Given the description of an element on the screen output the (x, y) to click on. 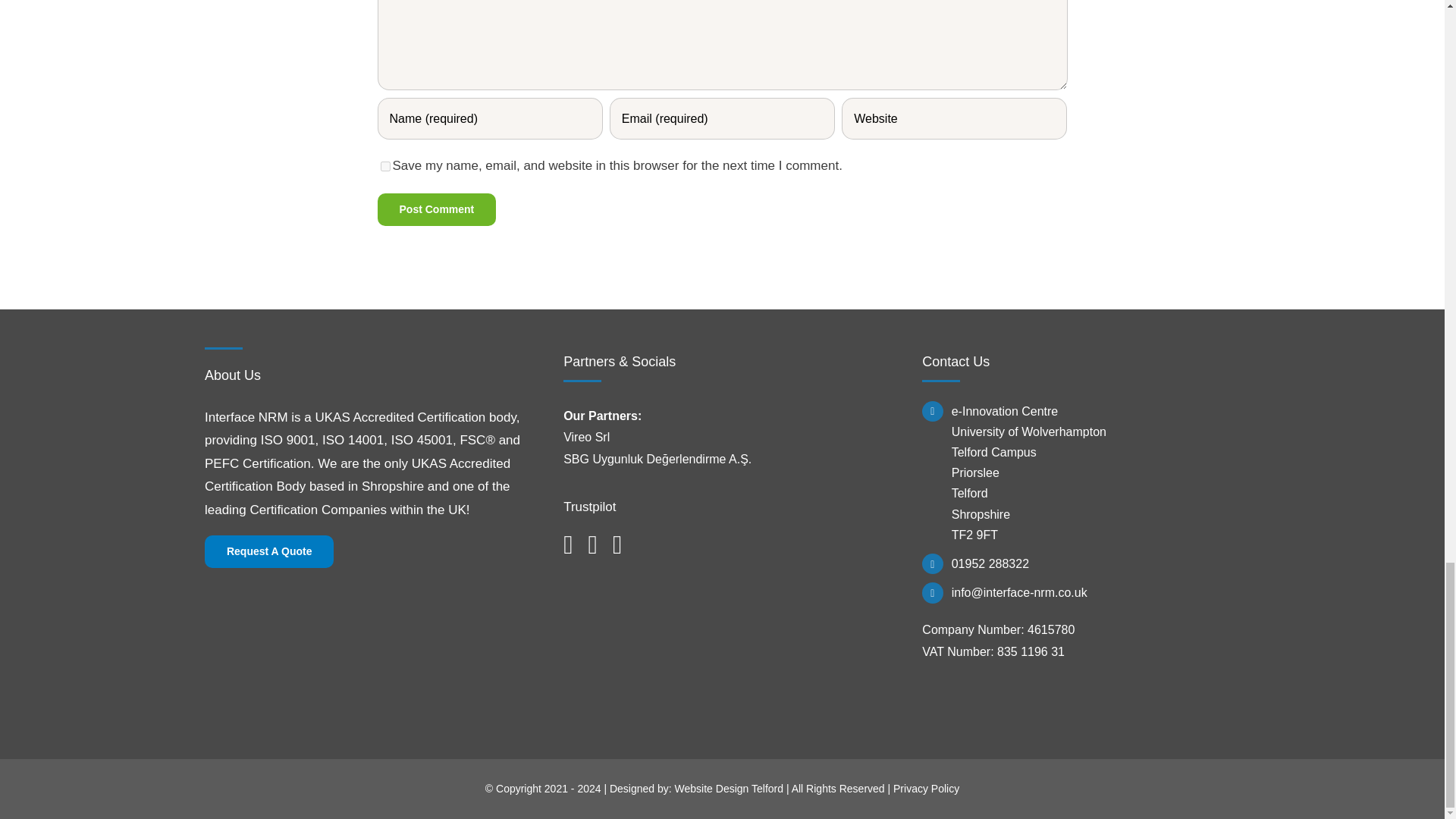
Post Comment (436, 209)
yes (385, 166)
